Given the description of an element on the screen output the (x, y) to click on. 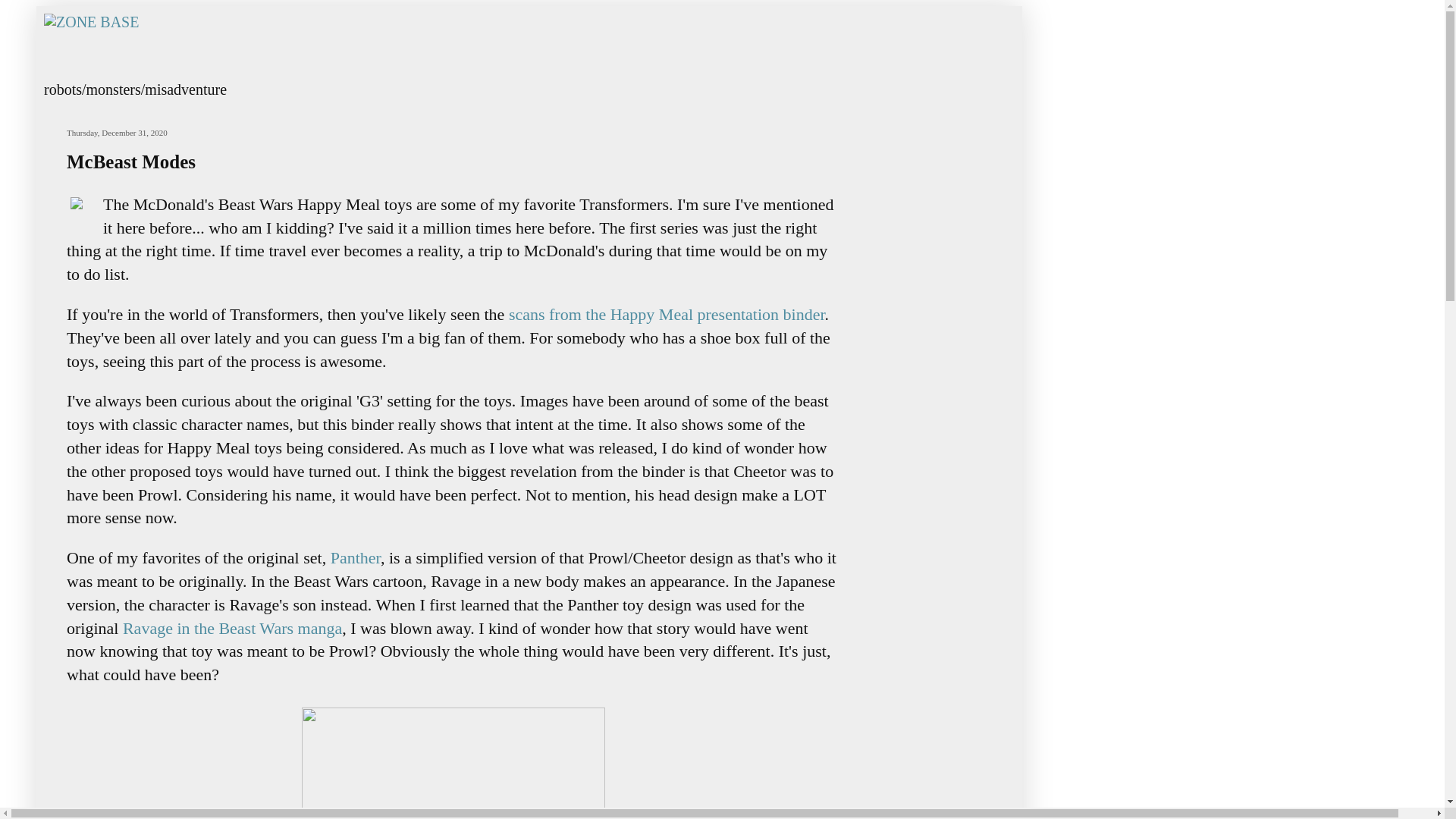
scans from the Happy Meal presentation binder (666, 313)
Ravage in the Beast Wars manga (229, 628)
Panther (355, 557)
